Given the description of an element on the screen output the (x, y) to click on. 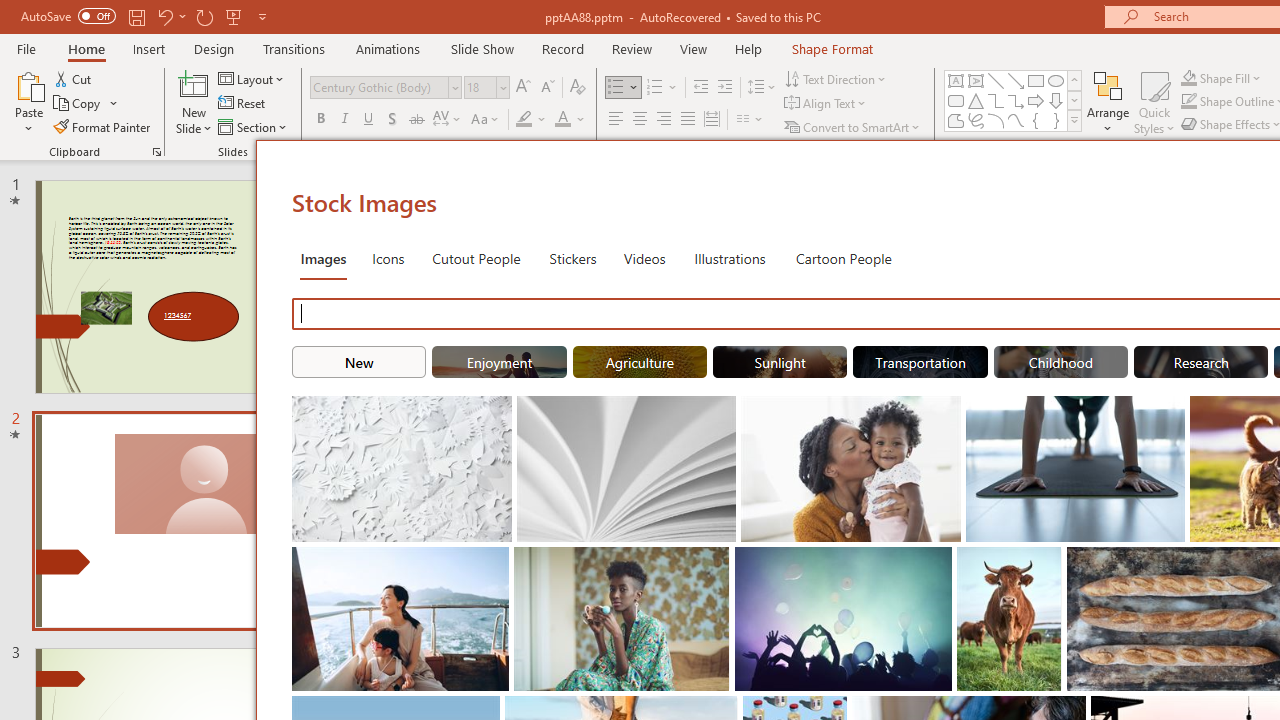
"New" Stock Images. (358, 362)
"Research" Stock Images. (1201, 362)
Thumbnail (1046, 561)
"Enjoyment" Stock Images. (499, 362)
